Given the description of an element on the screen output the (x, y) to click on. 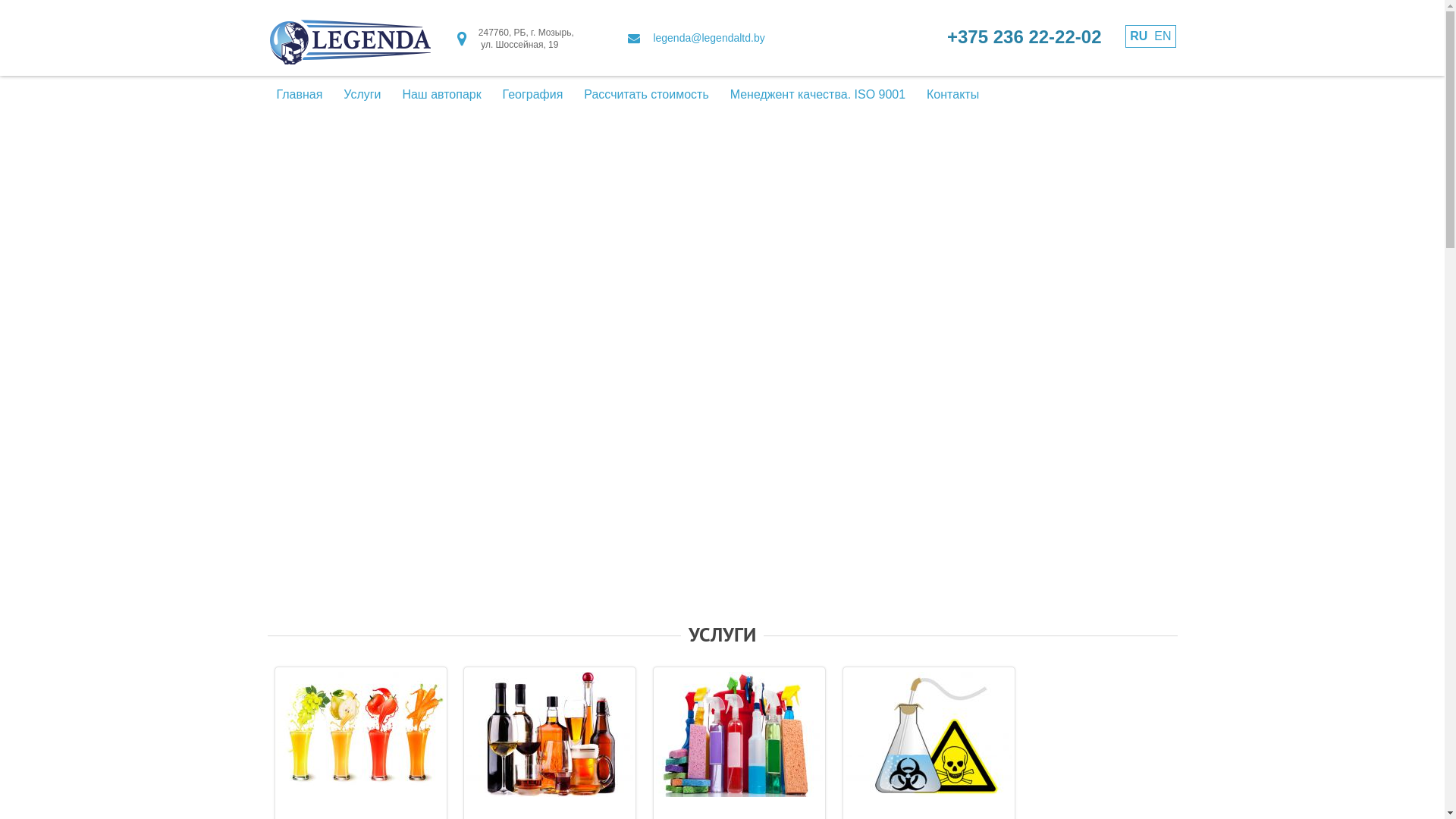
EN Element type: text (1162, 35)
legenda@legendaltd.by Element type: text (708, 37)
RU Element type: text (1138, 35)
